Given the description of an element on the screen output the (x, y) to click on. 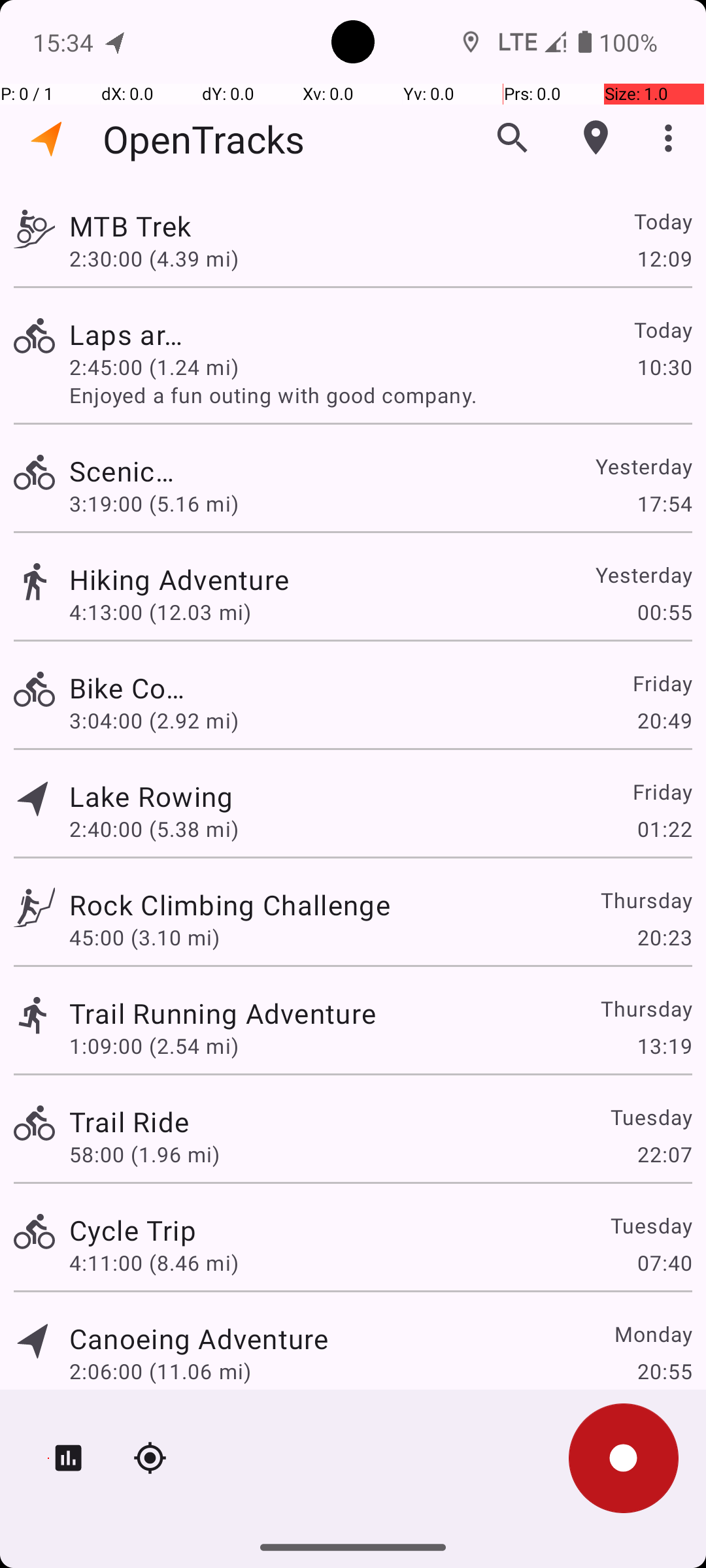
MTB Trek Element type: android.widget.TextView (222, 225)
2:30:00 (4.39 mi) Element type: android.widget.TextView (153, 258)
12:09 Element type: android.widget.TextView (664, 258)
Laps around the lake Element type: android.widget.TextView (128, 333)
2:45:00 (1.24 mi) Element type: android.widget.TextView (153, 366)
10:30 Element type: android.widget.TextView (664, 366)
Enjoyed a fun outing with good company. Element type: android.widget.TextView (380, 394)
Scenic Cycling Element type: android.widget.TextView (132, 470)
3:19:00 (5.16 mi) Element type: android.widget.TextView (153, 503)
17:54 Element type: android.widget.TextView (664, 503)
Hiking Adventure Element type: android.widget.TextView (198, 578)
4:13:00 (12.03 mi) Element type: android.widget.TextView (159, 611)
00:55 Element type: android.widget.TextView (664, 611)
Bike Commute Element type: android.widget.TextView (129, 687)
3:04:00 (2.92 mi) Element type: android.widget.TextView (159, 720)
20:49 Element type: android.widget.TextView (664, 720)
Lake Rowing Element type: android.widget.TextView (151, 795)
2:40:00 (5.38 mi) Element type: android.widget.TextView (153, 828)
01:22 Element type: android.widget.TextView (664, 828)
Rock Climbing Challenge Element type: android.widget.TextView (229, 904)
45:00 (3.10 mi) Element type: android.widget.TextView (144, 937)
20:23 Element type: android.widget.TextView (664, 937)
Trail Running Adventure Element type: android.widget.TextView (222, 1012)
1:09:00 (2.54 mi) Element type: android.widget.TextView (153, 1045)
13:19 Element type: android.widget.TextView (664, 1045)
Trail Ride Element type: android.widget.TextView (128, 1121)
58:00 (1.96 mi) Element type: android.widget.TextView (144, 1154)
22:07 Element type: android.widget.TextView (664, 1154)
Cycle Trip Element type: android.widget.TextView (132, 1229)
4:11:00 (8.46 mi) Element type: android.widget.TextView (153, 1262)
07:40 Element type: android.widget.TextView (664, 1262)
Canoeing Adventure Element type: android.widget.TextView (198, 1337)
2:06:00 (11.06 mi) Element type: android.widget.TextView (159, 1370)
20:55 Element type: android.widget.TextView (664, 1370)
OpenTracks notification:  Element type: android.widget.ImageView (115, 41)
